Given the description of an element on the screen output the (x, y) to click on. 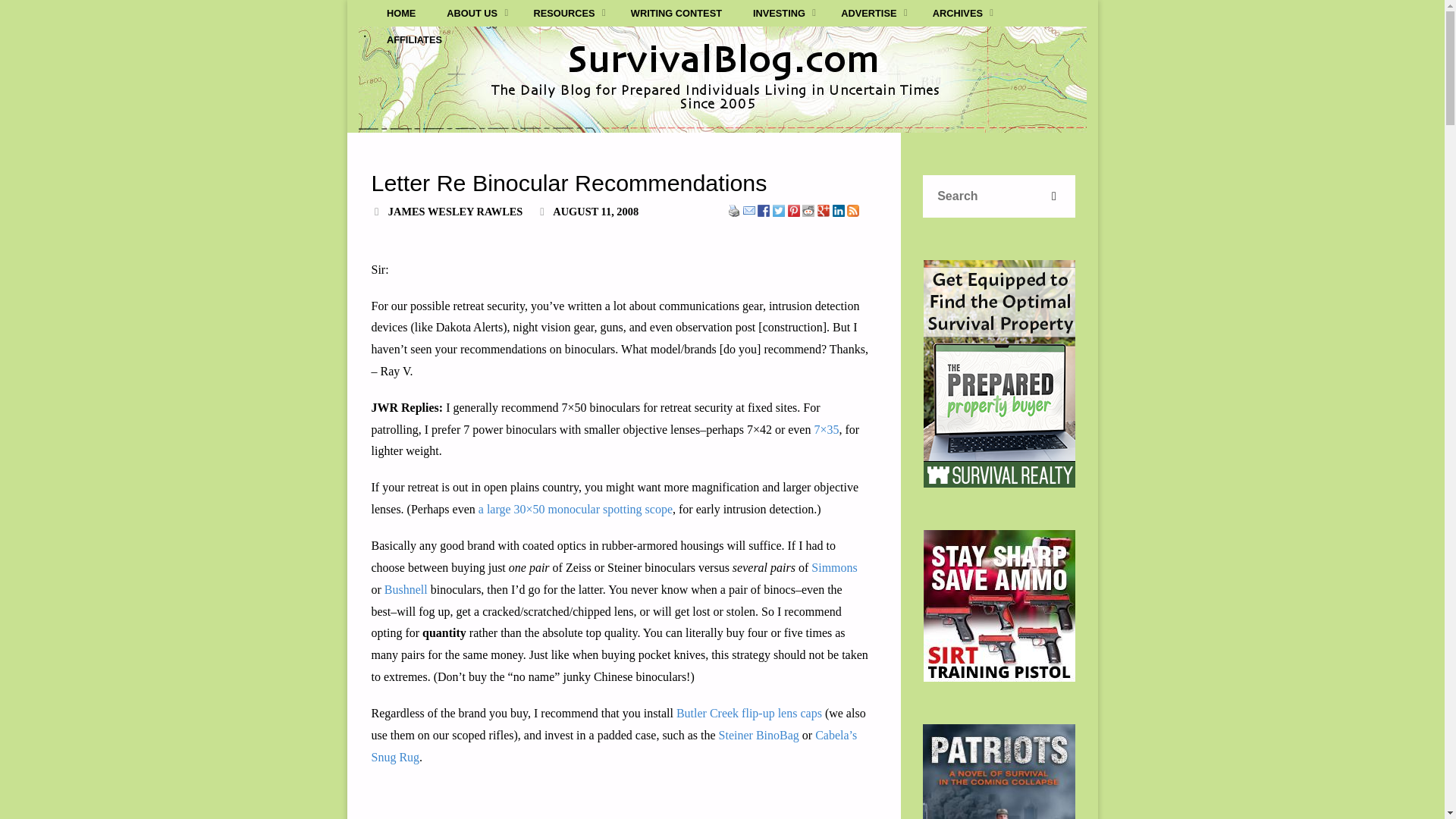
Patriots - Surviving the Coming Collapse (999, 771)
Email This Post (748, 209)
Print This Post (733, 209)
NextLevel Training (999, 605)
Print This Post (733, 210)
Email This Post (748, 210)
View all posts by James Wesley Rawles (455, 211)
